Given the description of an element on the screen output the (x, y) to click on. 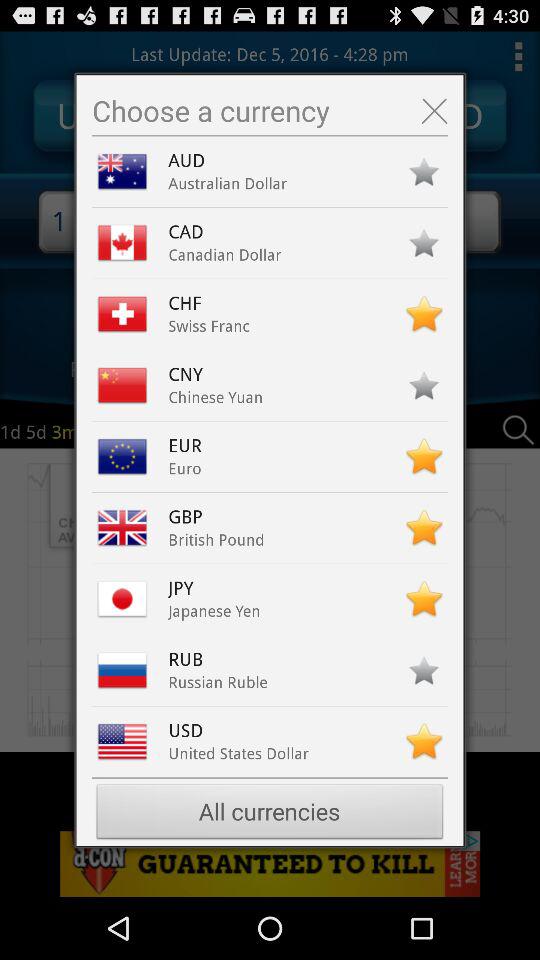
turn on the icon above euro (189, 445)
